Given the description of an element on the screen output the (x, y) to click on. 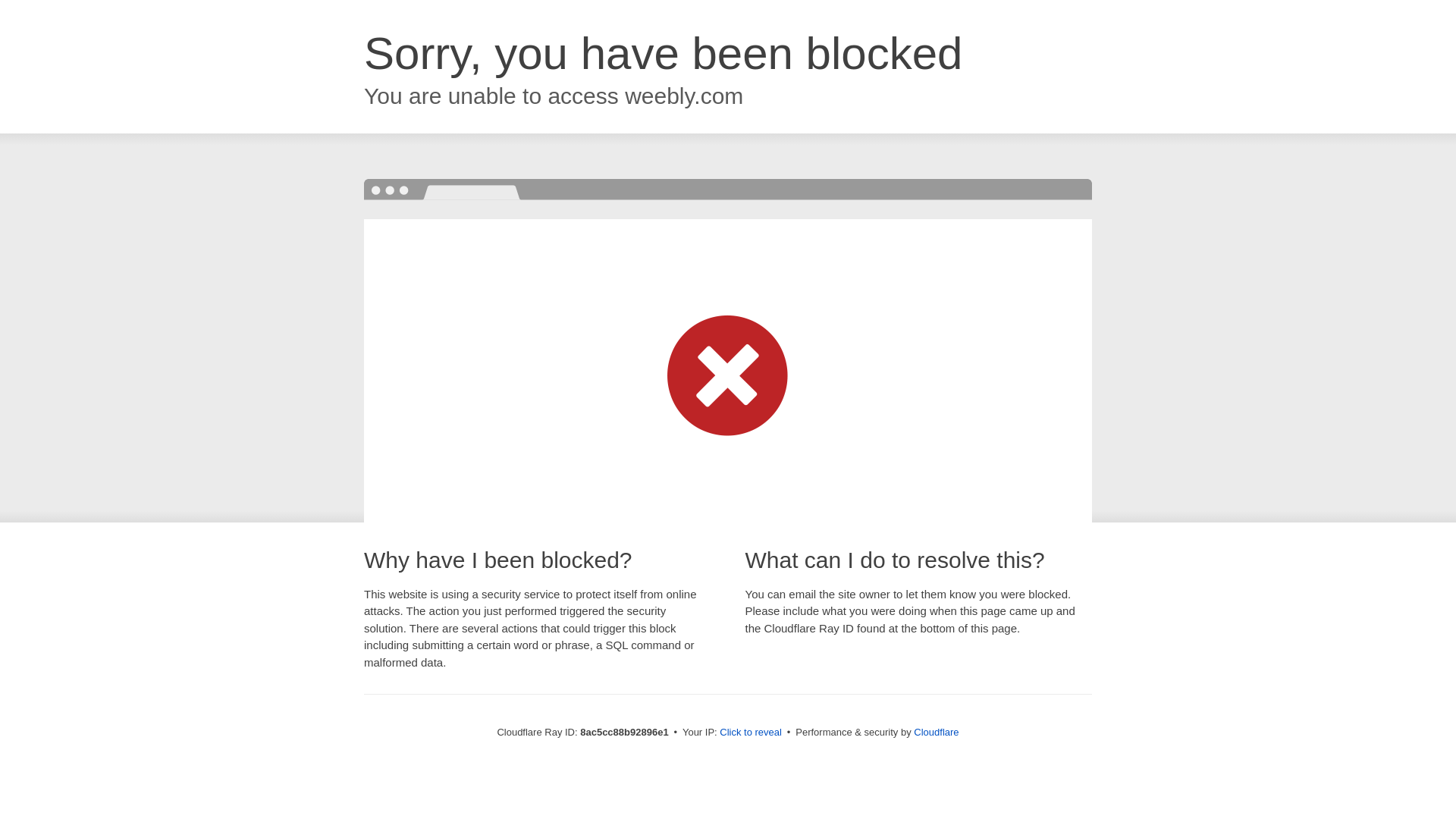
Click to reveal (750, 732)
Cloudflare (936, 731)
